Given the description of an element on the screen output the (x, y) to click on. 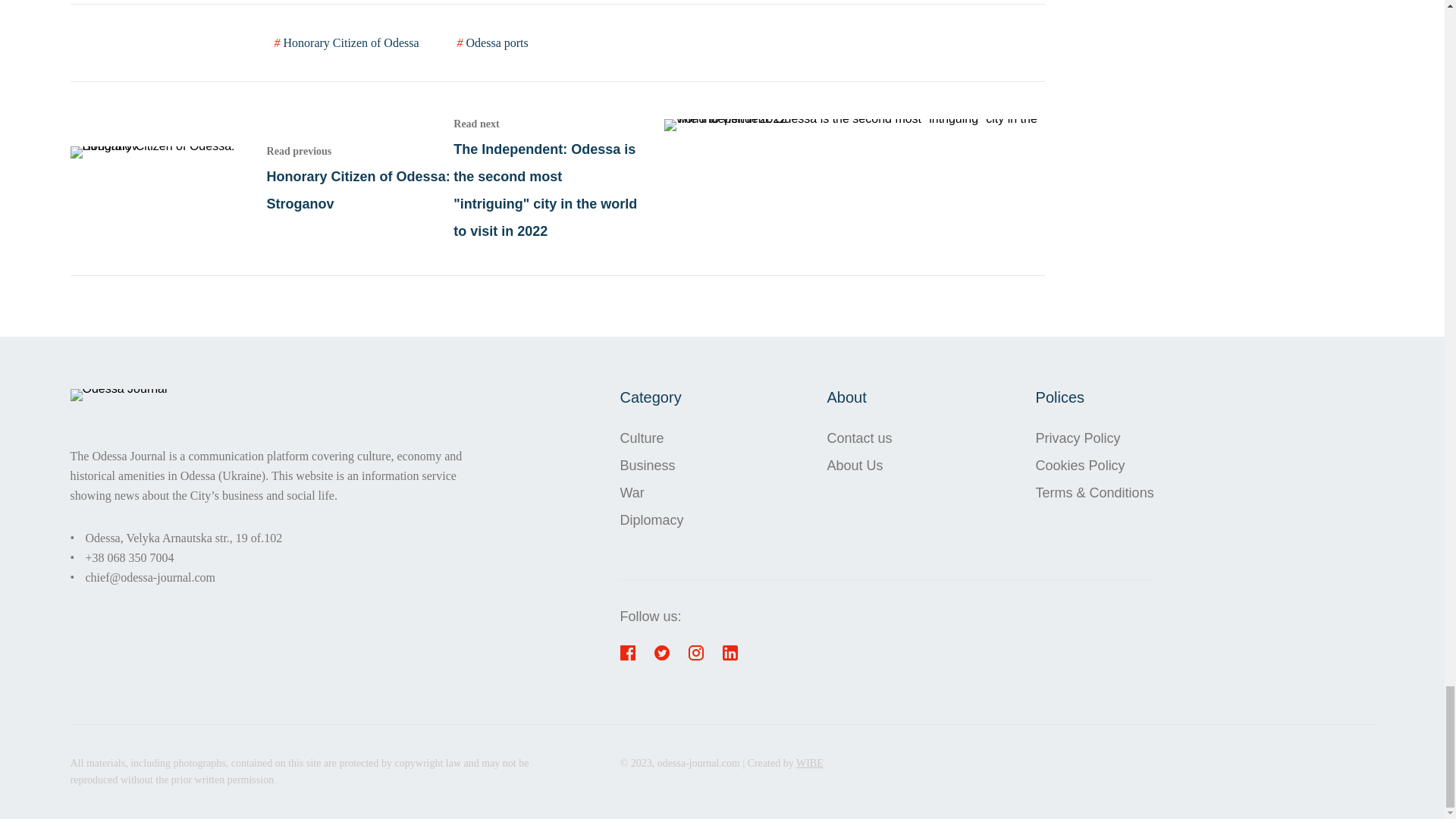
Culture (260, 178)
War (652, 438)
Honorary Citizen of Odessa (652, 492)
Privacy Policy (347, 42)
Odessa, Velyka Arnautska str., 19 of.102 (1094, 438)
Business (183, 536)
Cookies Policy (652, 465)
Read (1094, 465)
Diplomacy (747, 178)
